Given the description of an element on the screen output the (x, y) to click on. 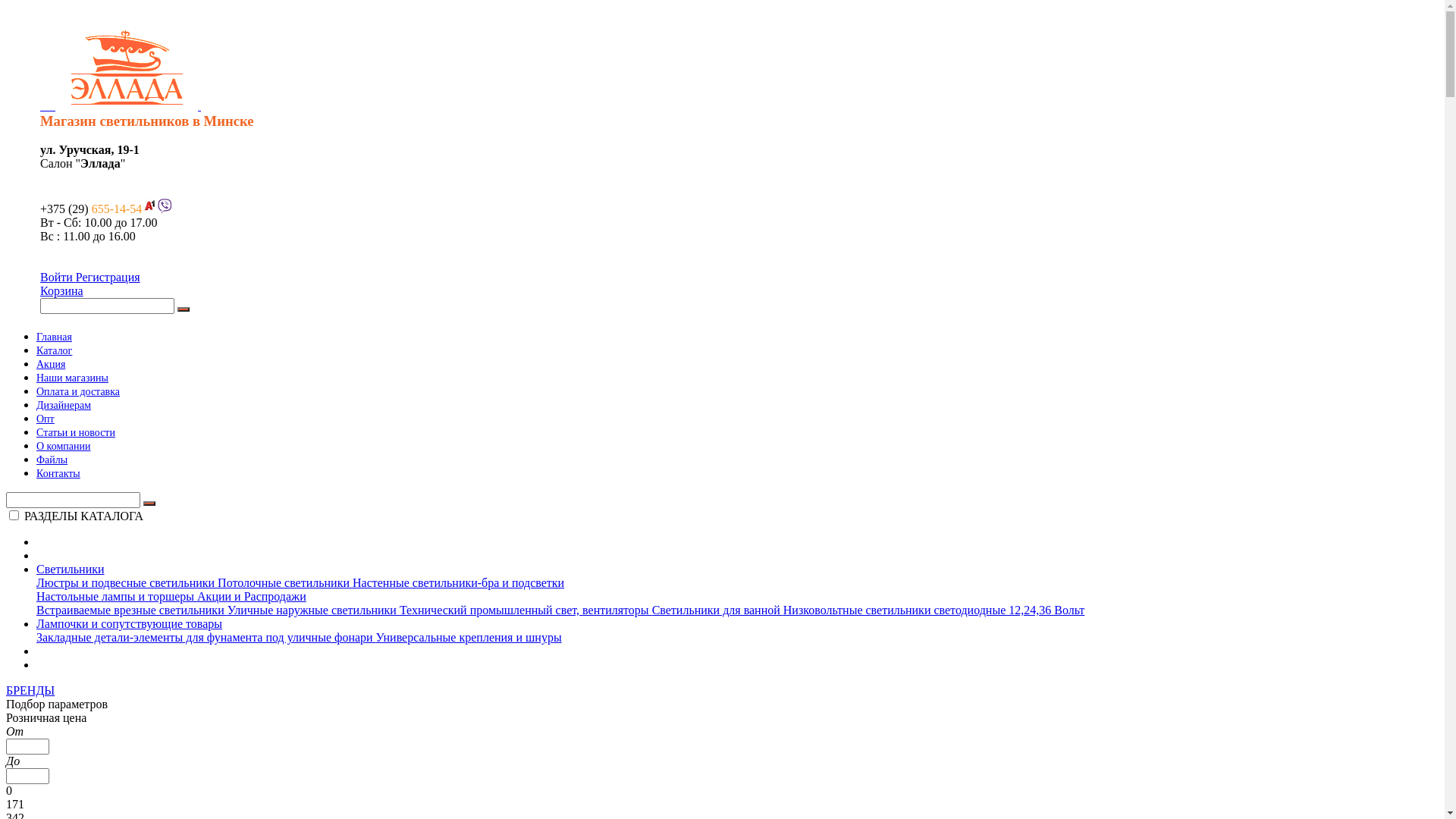
600px-A1_Logo_Red1.jpg Element type: hover (148, 205)
      Element type: text (120, 149)
logo(1).png Element type: hover (126, 67)
viber_PNG41.png Element type: hover (164, 205)
